Given the description of an element on the screen output the (x, y) to click on. 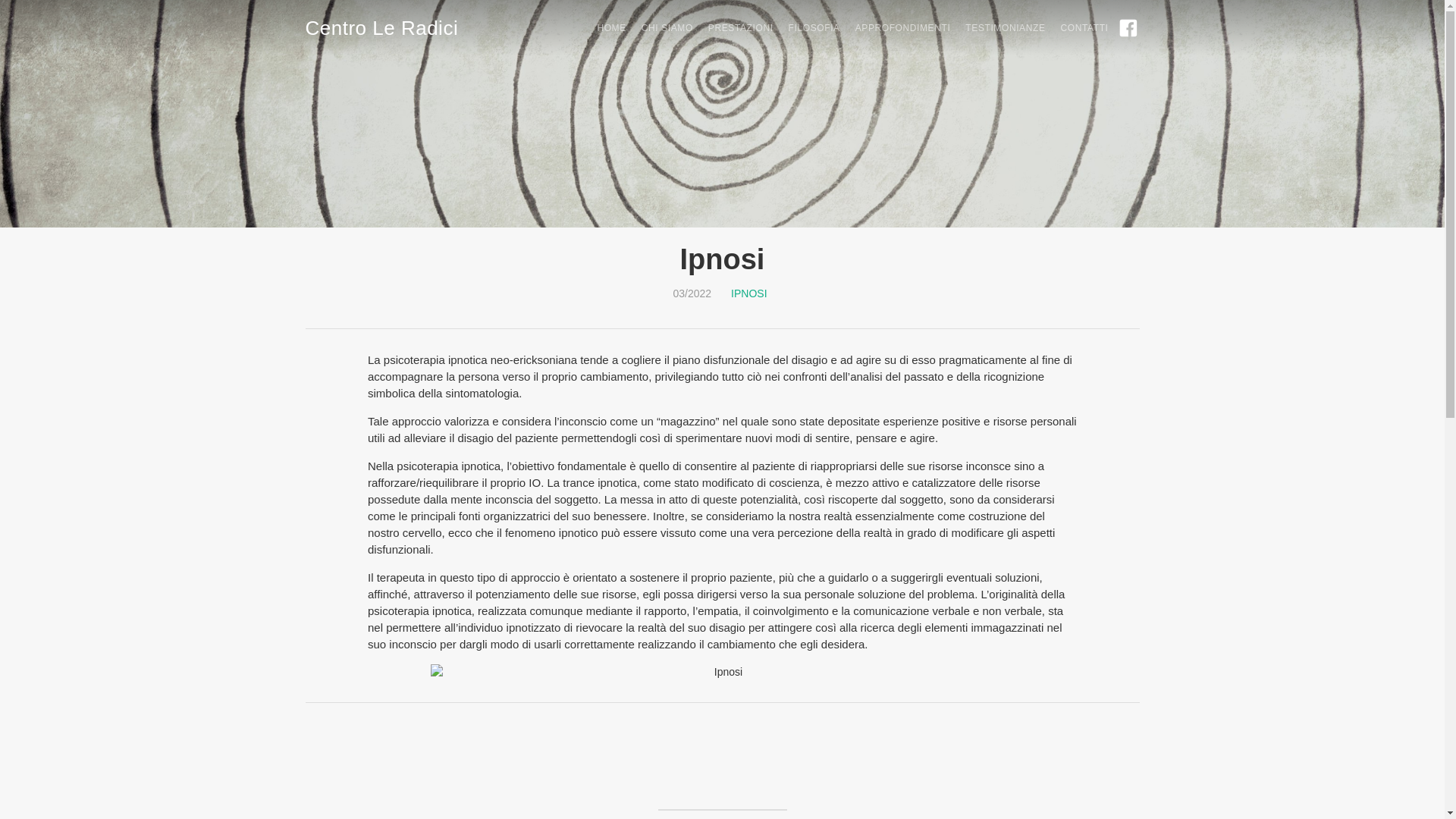
IPNOSI Element type: text (748, 293)
Centro Le Radici Element type: text (381, 24)
HOME Element type: text (603, 27)
FILOSOFIA Element type: text (806, 27)
PRESTAZIONI Element type: text (733, 27)
CHI SIAMO Element type: text (659, 27)
APPROFONDIMENTI Element type: text (895, 27)
CONTATTI Element type: text (1075, 27)
TESTIMONIANZE Element type: text (997, 27)
